Given the description of an element on the screen output the (x, y) to click on. 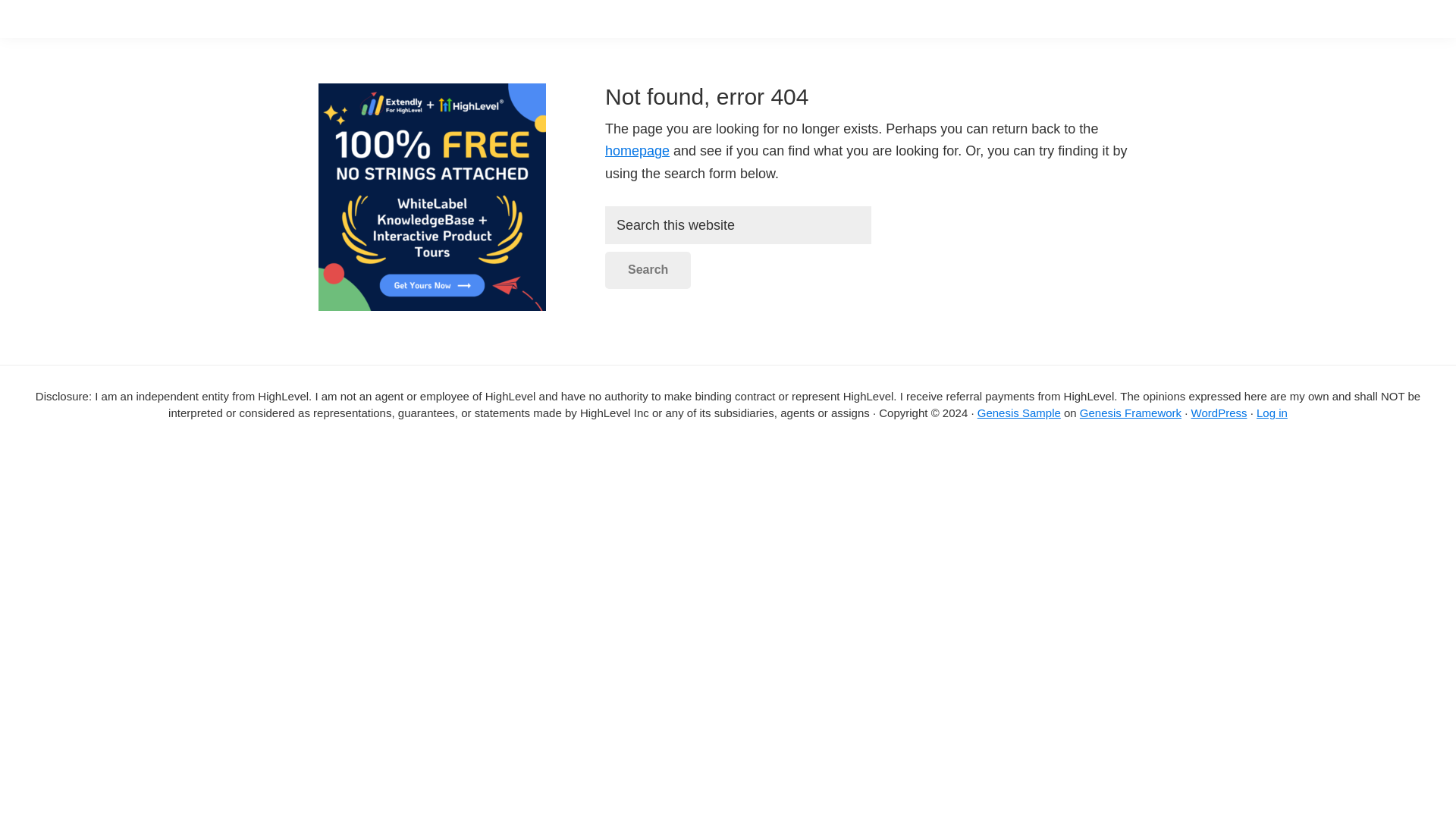
Genesis Framework (1130, 412)
Search (647, 269)
Search (647, 269)
Log in (1271, 412)
Genesis Sample (1018, 412)
homepage (637, 150)
WordPress (1219, 412)
Search (647, 269)
